Given the description of an element on the screen output the (x, y) to click on. 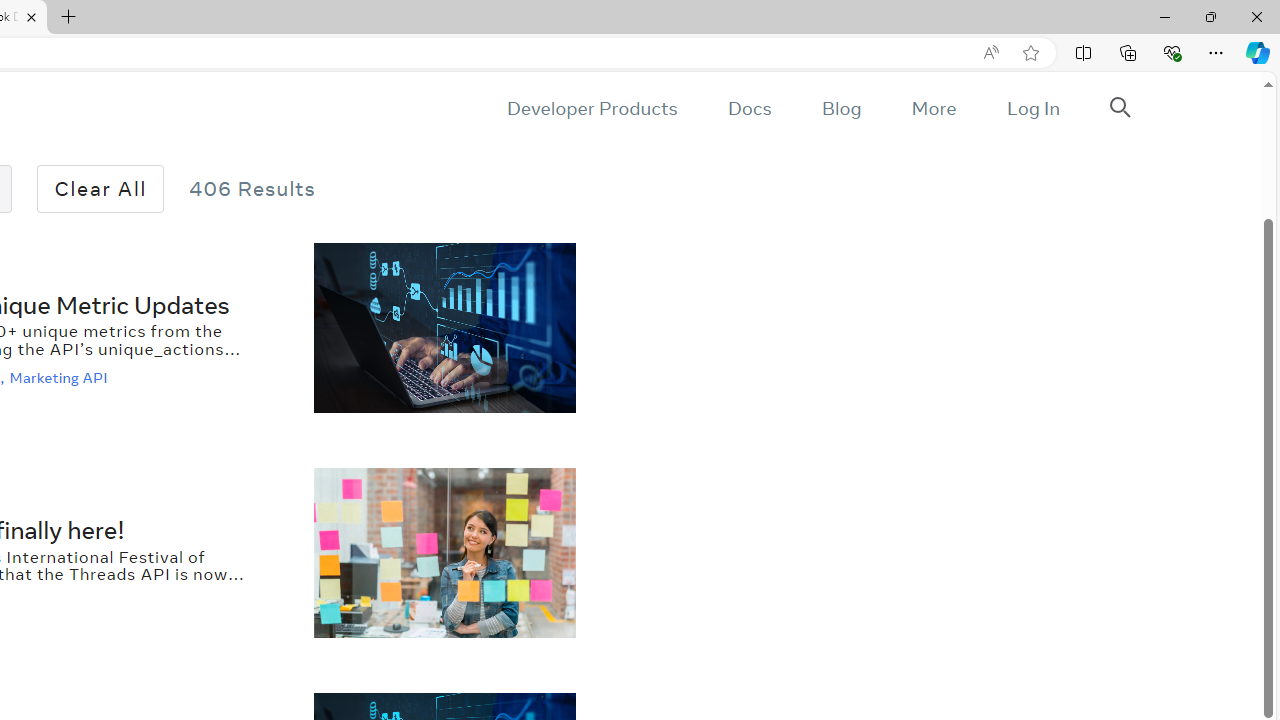
Developer Products (591, 108)
Marketing API (60, 377)
Log In (1032, 108)
Blog (841, 108)
More (933, 108)
